Given the description of an element on the screen output the (x, y) to click on. 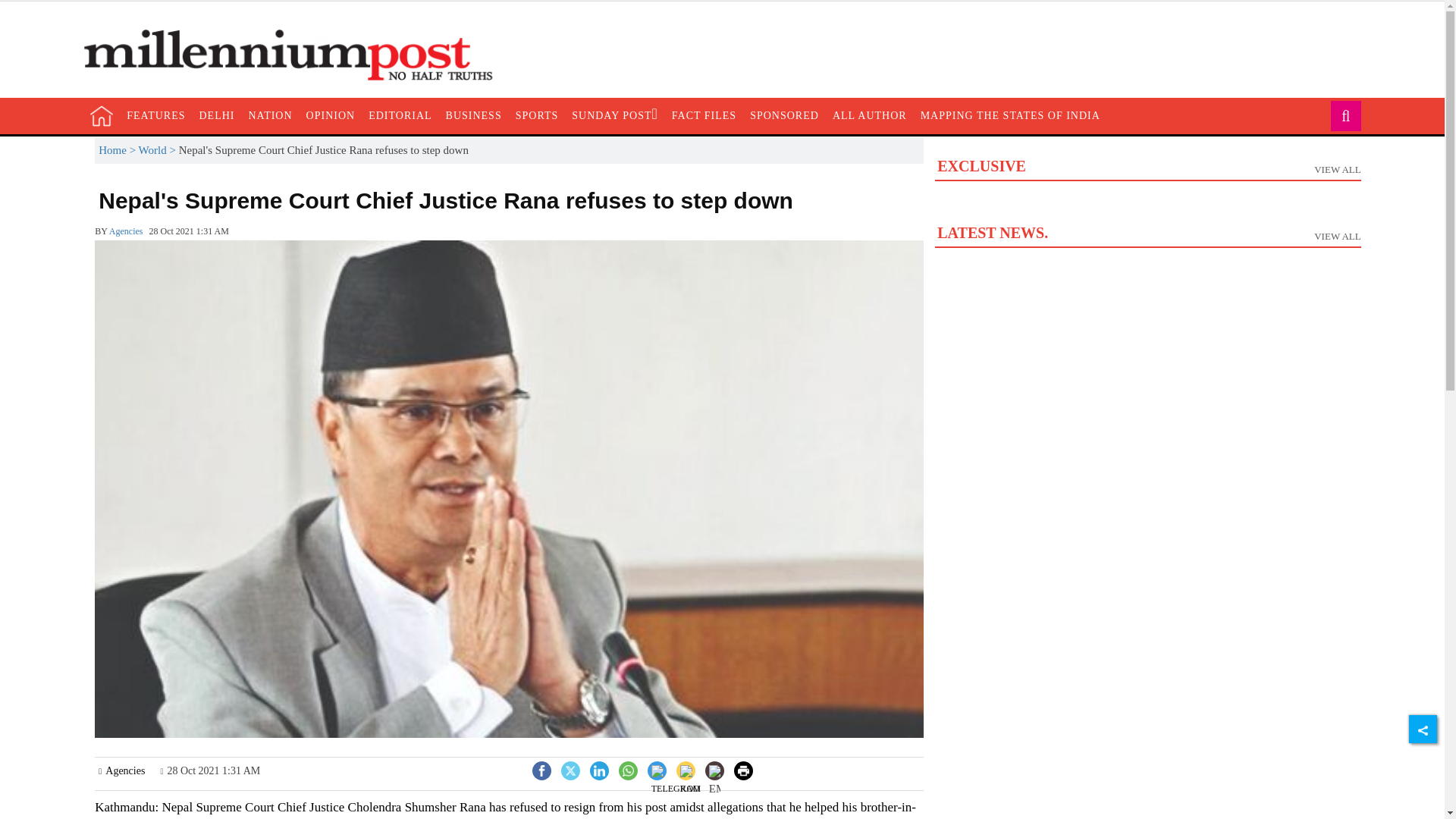
facebook (541, 770)
FACT FILES (703, 115)
linkedin (1146, 204)
OPINION (599, 770)
whatsapp (330, 115)
DELHI (628, 770)
Facebook (216, 115)
telegram (541, 769)
EDITORIAL (675, 782)
